Given the description of an element on the screen output the (x, y) to click on. 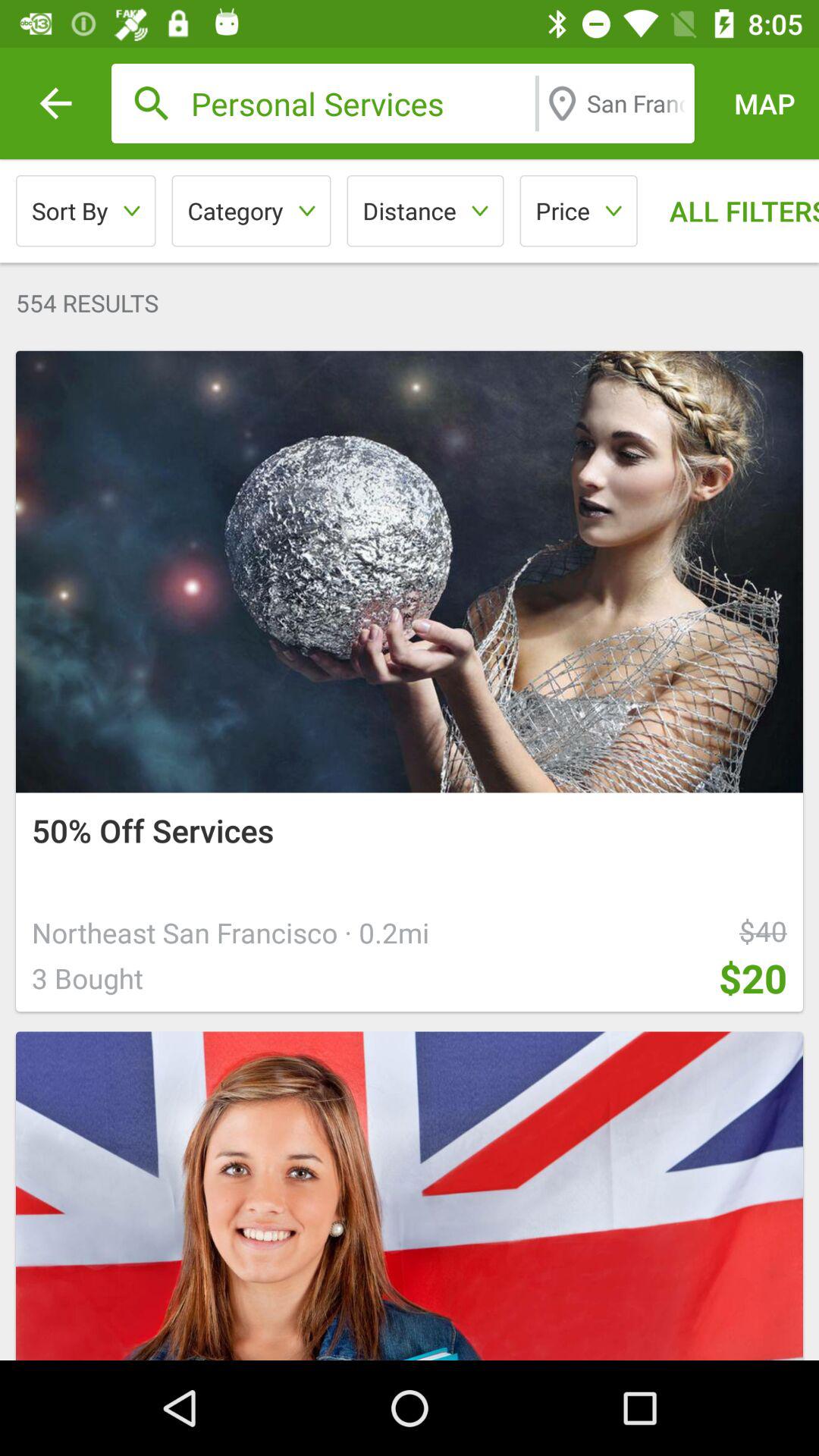
launch item above the 554 results icon (424, 210)
